Given the description of an element on the screen output the (x, y) to click on. 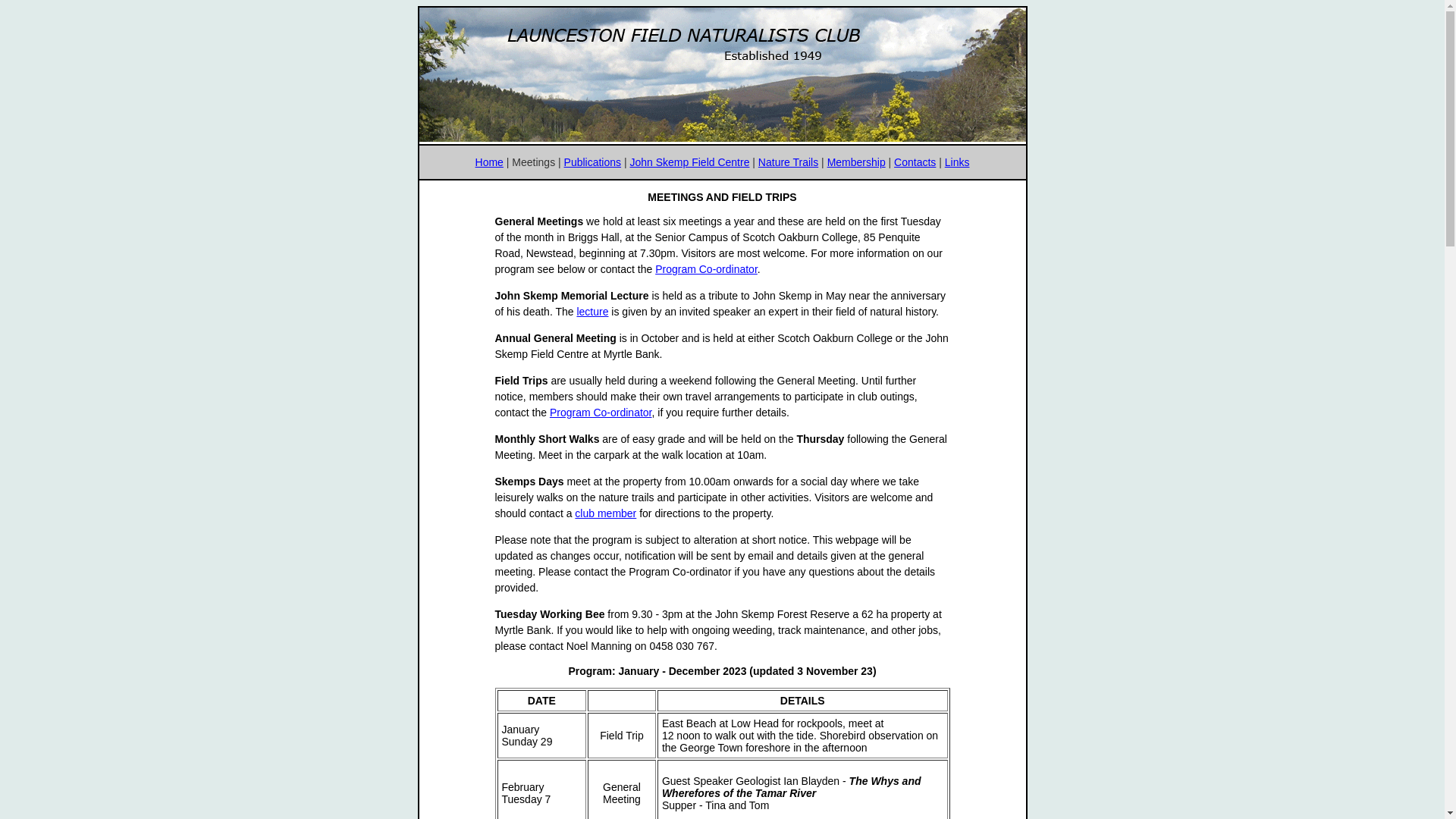
Program Co-ordinator Element type: text (706, 269)
John Skemp Field Centre Element type: text (689, 162)
club member Element type: text (605, 513)
Looking south-east over the Silver Wattles Element type: hover (721, 74)
Home Element type: text (489, 162)
Program Co-ordinator Element type: text (600, 412)
lecture Element type: text (592, 311)
Membership Element type: text (856, 162)
Contacts Element type: text (914, 162)
Publications Element type: text (592, 162)
Links Element type: text (956, 162)
Nature Trails Element type: text (788, 162)
